Given the description of an element on the screen output the (x, y) to click on. 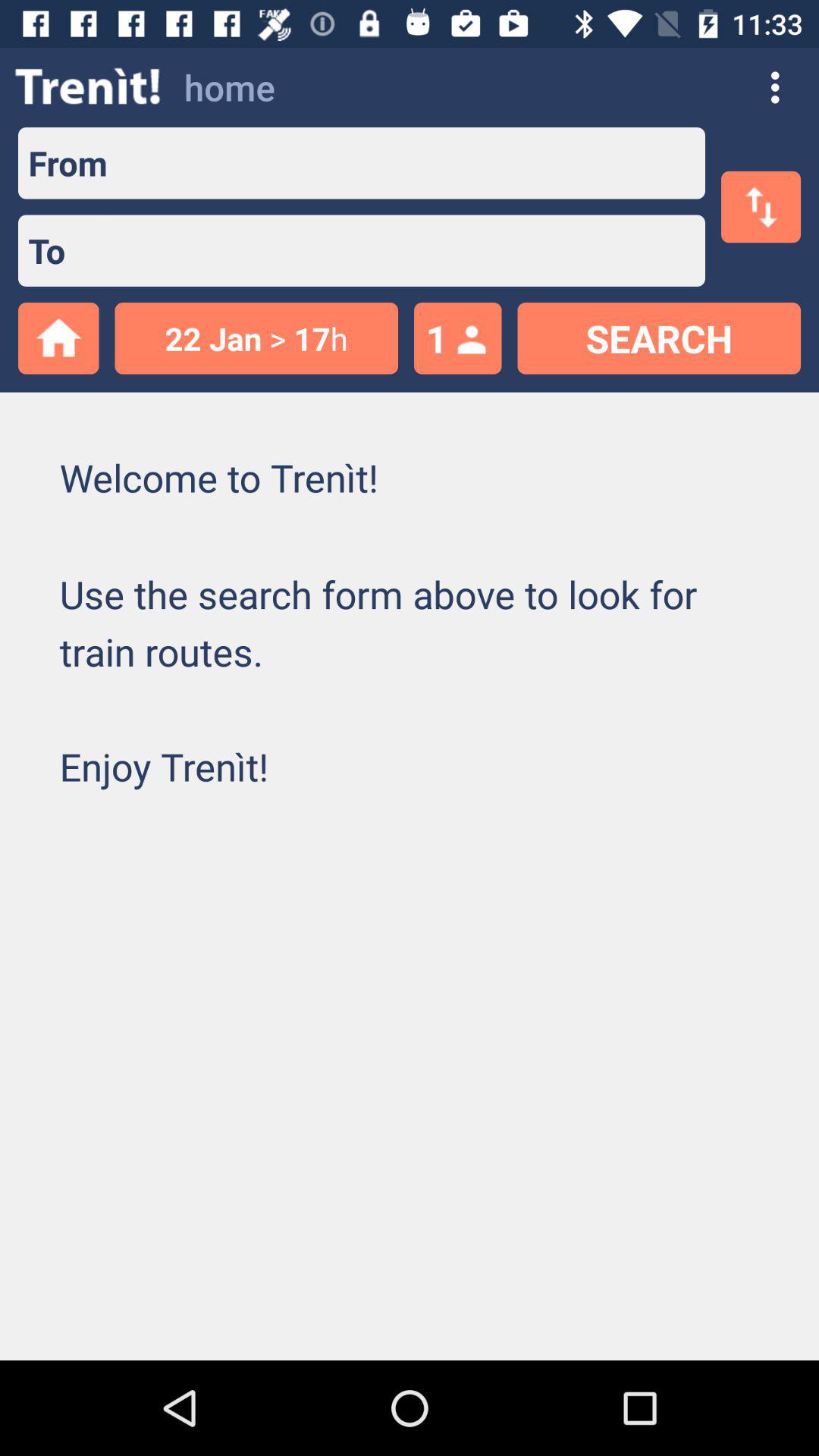
enter text (406, 163)
